Given the description of an element on the screen output the (x, y) to click on. 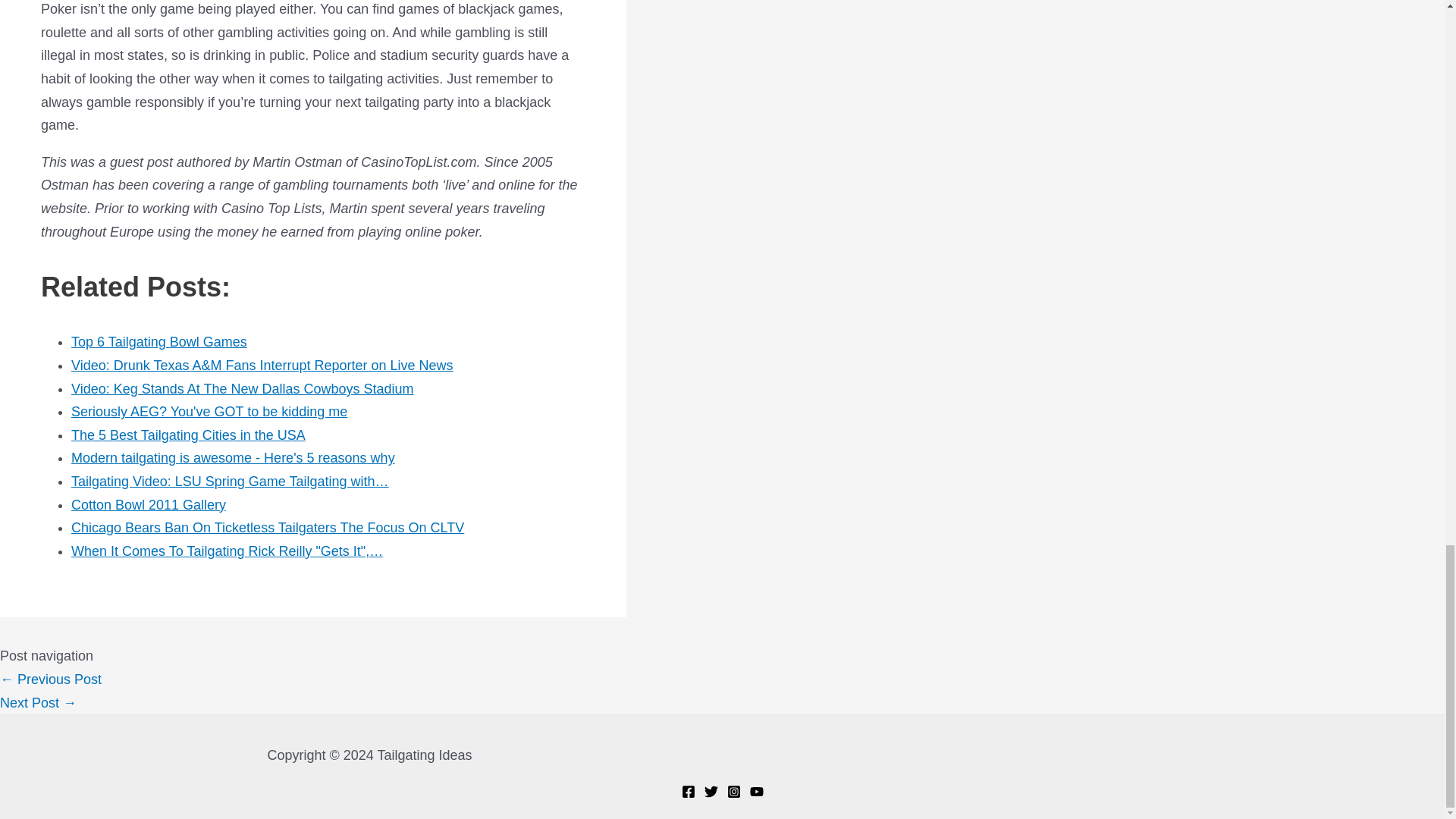
Soulra XL Solar iPod Speakers (38, 702)
Video: Inside the NFL Tailgating at Green Bay (50, 679)
